Given the description of an element on the screen output the (x, y) to click on. 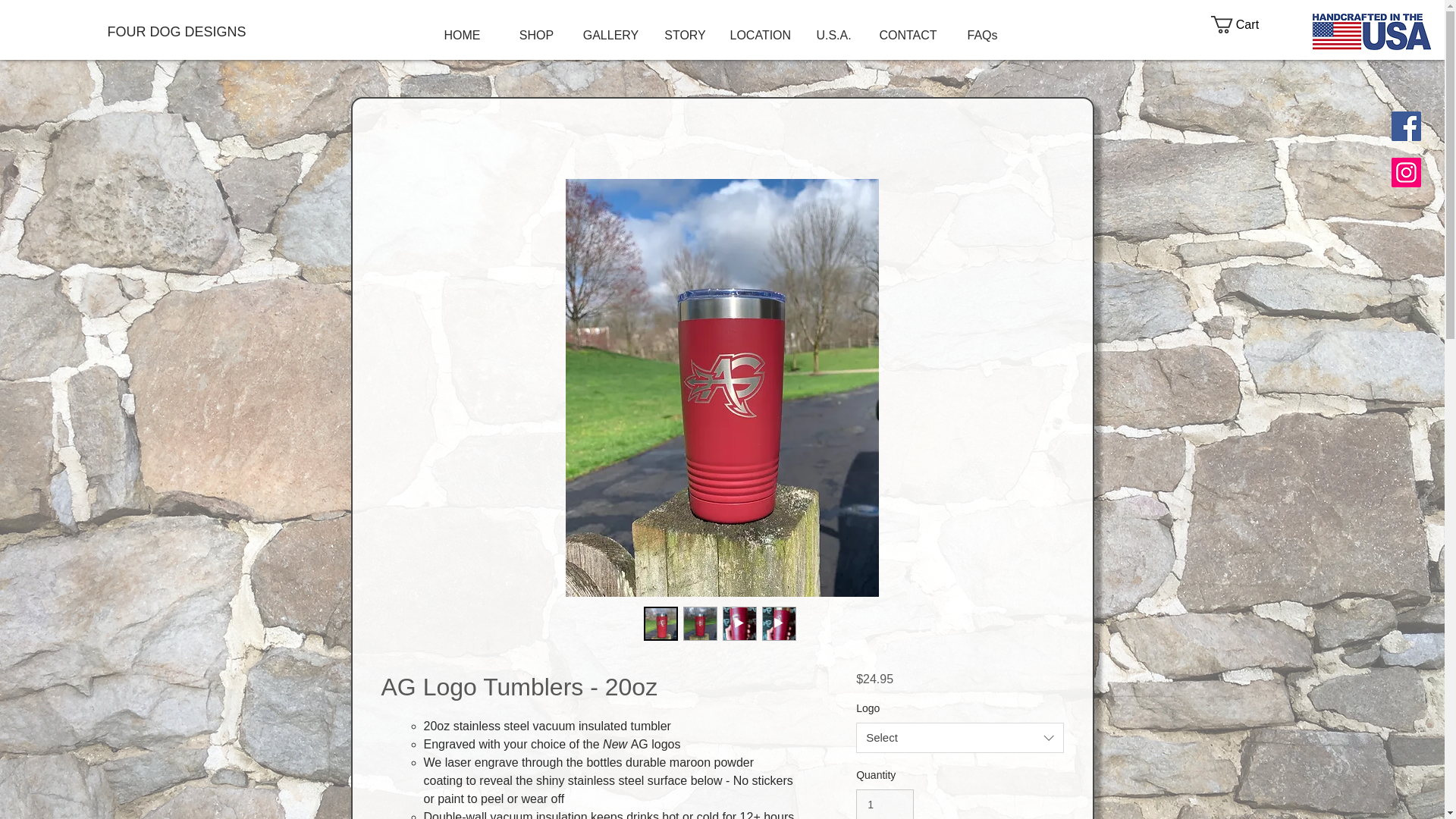
SHOP (536, 35)
HOME (462, 35)
CONTACT (907, 35)
1 (885, 804)
Select (959, 737)
Cart (1245, 24)
STORY (684, 35)
FOUR DOG DESIGNS (176, 32)
Cart (1245, 24)
FAQs (981, 35)
U.S.A. (833, 35)
LOCATION (759, 35)
GALLERY (610, 35)
